Given the description of an element on the screen output the (x, y) to click on. 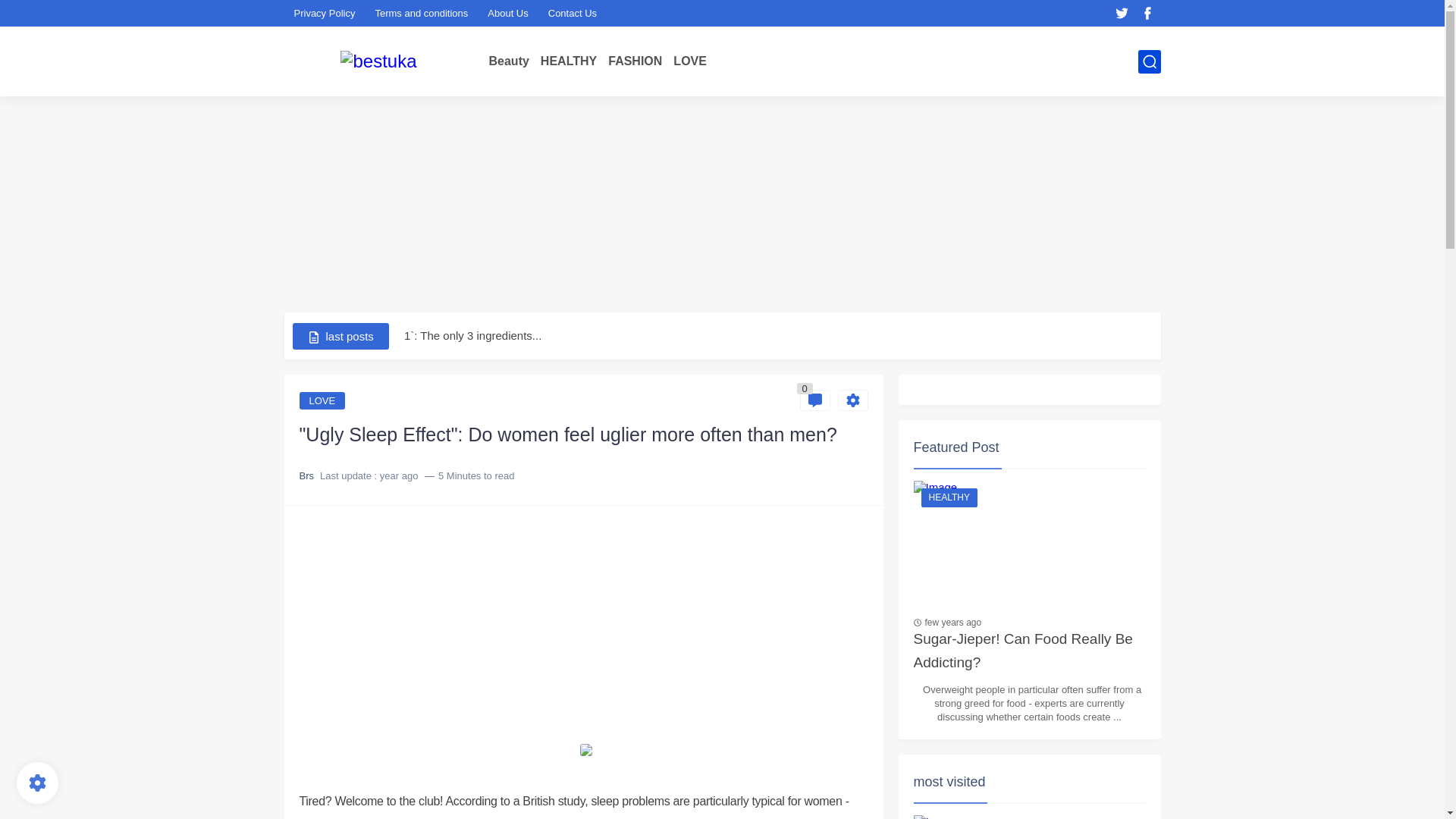
LOVE (689, 60)
Stomach Vacuum Flat stomach thanks to breathing exercises? (561, 305)
Contact Us (571, 12)
HEALTHY (568, 60)
LOVE (689, 60)
HEALTHY (568, 60)
Terms and conditions (421, 12)
Beauty (507, 60)
bestuka (378, 61)
Beauty (507, 60)
FASHION (635, 60)
Privacy Policy (324, 12)
About Us (507, 12)
FASHION (635, 60)
Stomach Vacuum Flat stomach thanks to breathing exercises? (561, 305)
